Given the description of an element on the screen output the (x, y) to click on. 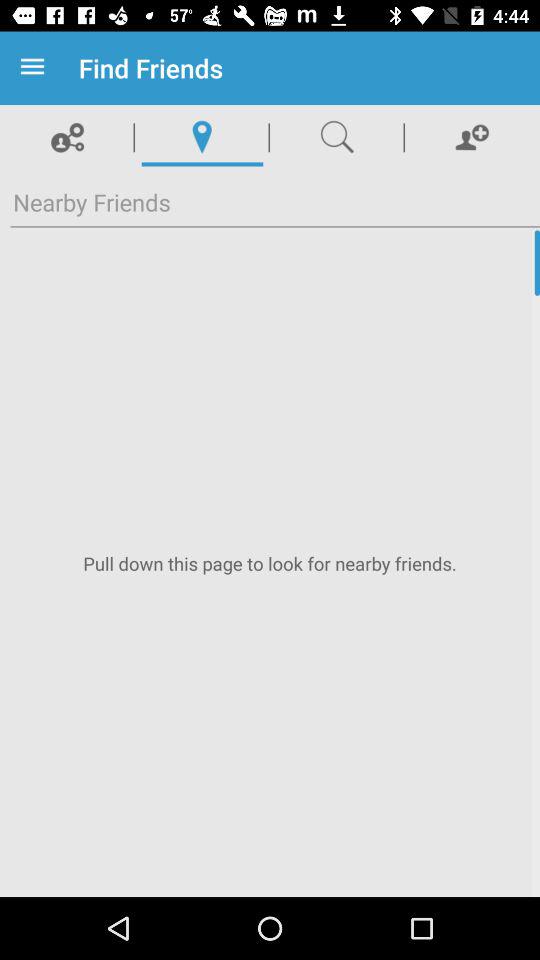
turn on app to the left of the find friends app (36, 68)
